Given the description of an element on the screen output the (x, y) to click on. 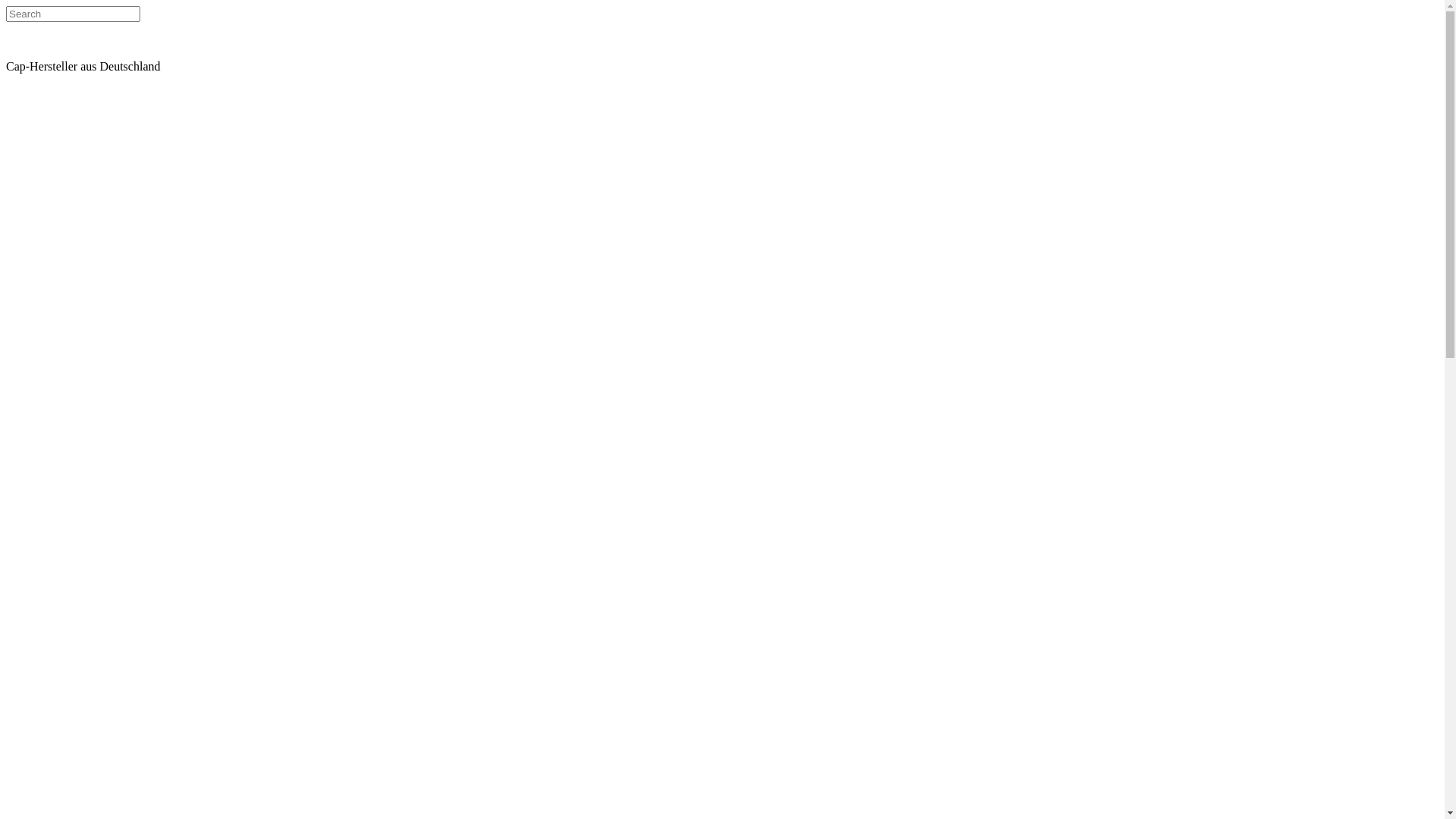
indicap.cc Element type: hover (58, 52)
Search Element type: hover (73, 13)
